Given the description of an element on the screen output the (x, y) to click on. 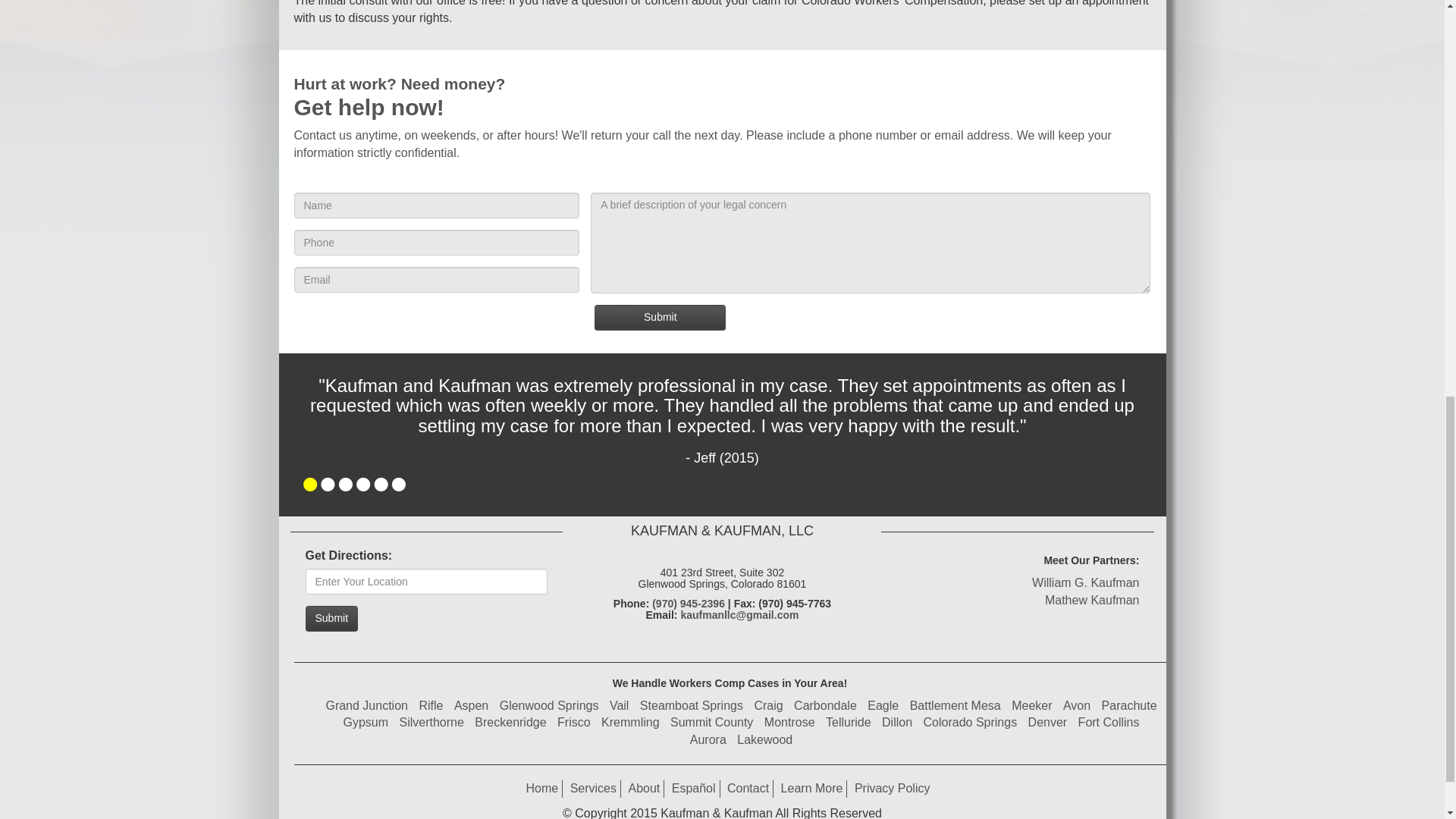
Eagle (882, 705)
Vail (619, 705)
Steamboat Springs (691, 705)
Aspen (470, 705)
William G. Kaufman (1085, 582)
Battlement Mesa (955, 705)
Grand Junction (365, 705)
Rifle (430, 705)
Carbondale (825, 705)
Mathew Kaufman (1092, 599)
Submit (659, 317)
Craig (768, 705)
Submit (331, 618)
Glenwood Springs (548, 705)
